Given the description of an element on the screen output the (x, y) to click on. 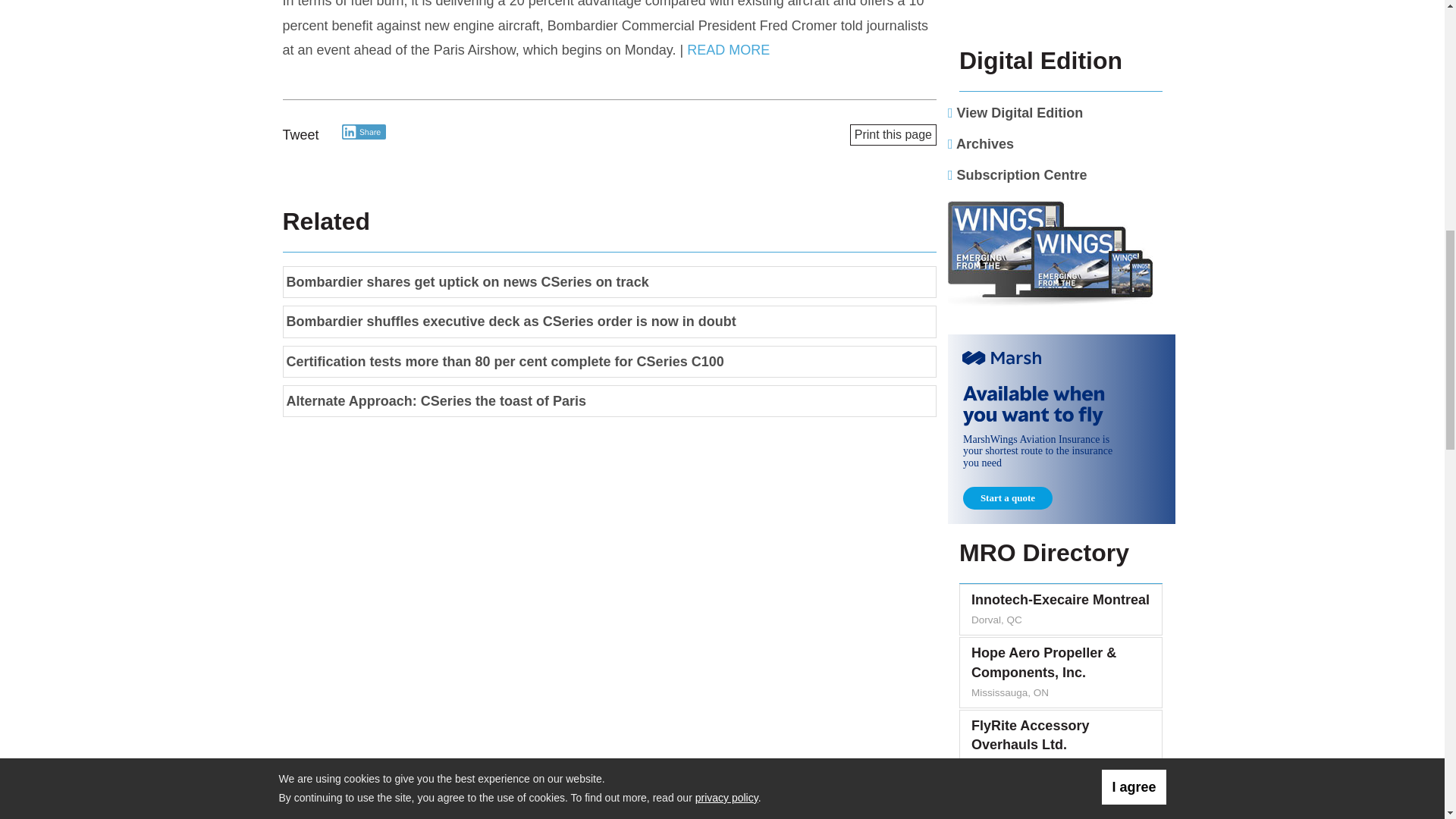
3rd party ad content (1060, 429)
3rd party ad content (1060, 15)
